Given the description of an element on the screen output the (x, y) to click on. 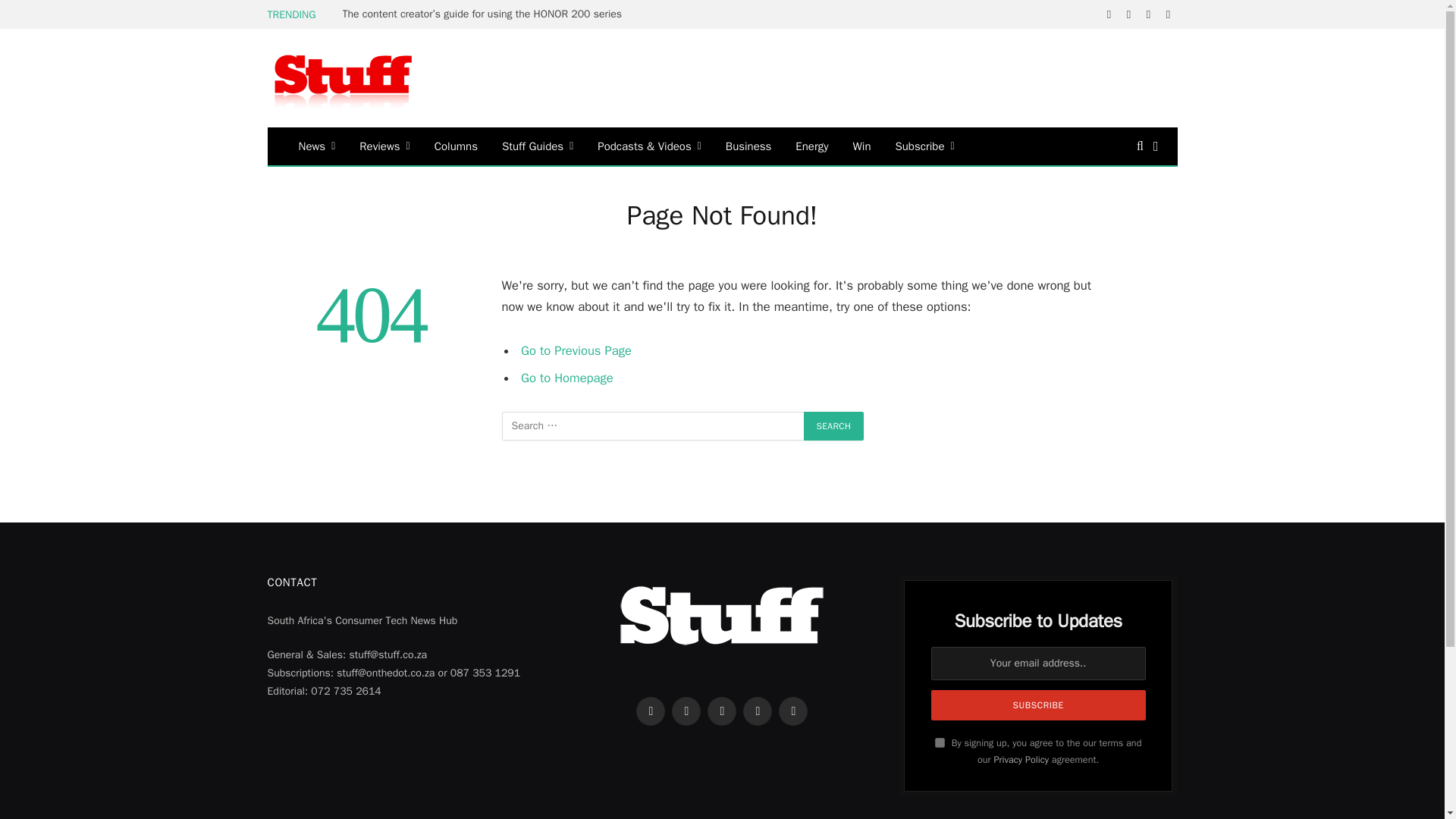
on (939, 742)
News (316, 146)
Subscribe (1038, 705)
Reviews (384, 146)
Search (833, 425)
Stuff South Africa (342, 78)
Search (833, 425)
